Given the description of an element on the screen output the (x, y) to click on. 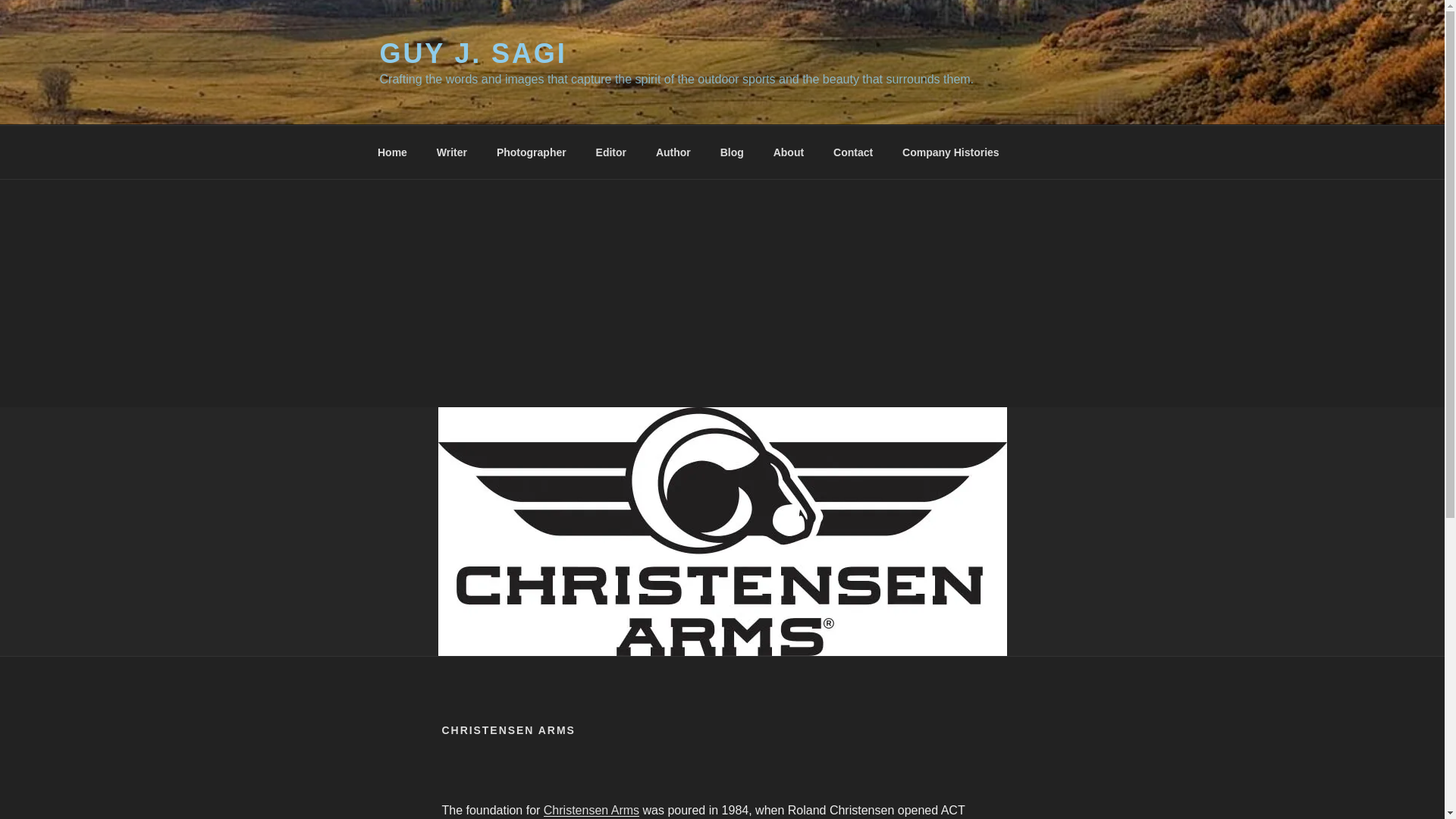
Writer (451, 151)
Contact (853, 151)
GUY J. SAGI (472, 52)
Photographer (531, 151)
About (788, 151)
Editor (610, 151)
Blog (731, 151)
Company Histories (951, 151)
Christensen Arms (591, 809)
